Given the description of an element on the screen output the (x, y) to click on. 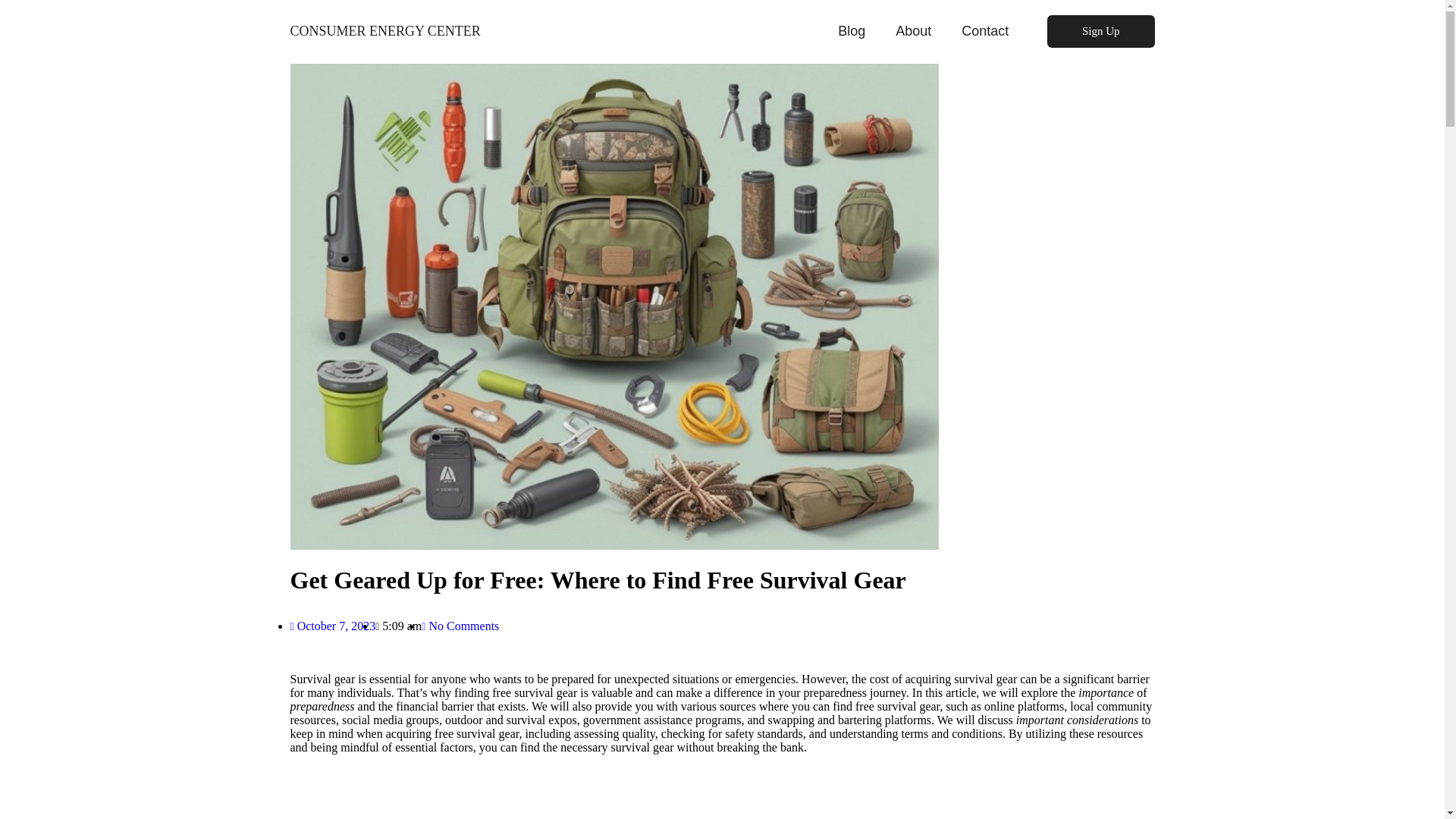
CONSUMER ENERGY CENTER (384, 30)
Contact (984, 30)
Blog (851, 30)
About (913, 30)
Sign Up (1100, 31)
Get Geared Up for Free: Where to Find Free Survival Gear (597, 579)
No Comments (460, 625)
October 7, 2023 (332, 625)
